Given the description of an element on the screen output the (x, y) to click on. 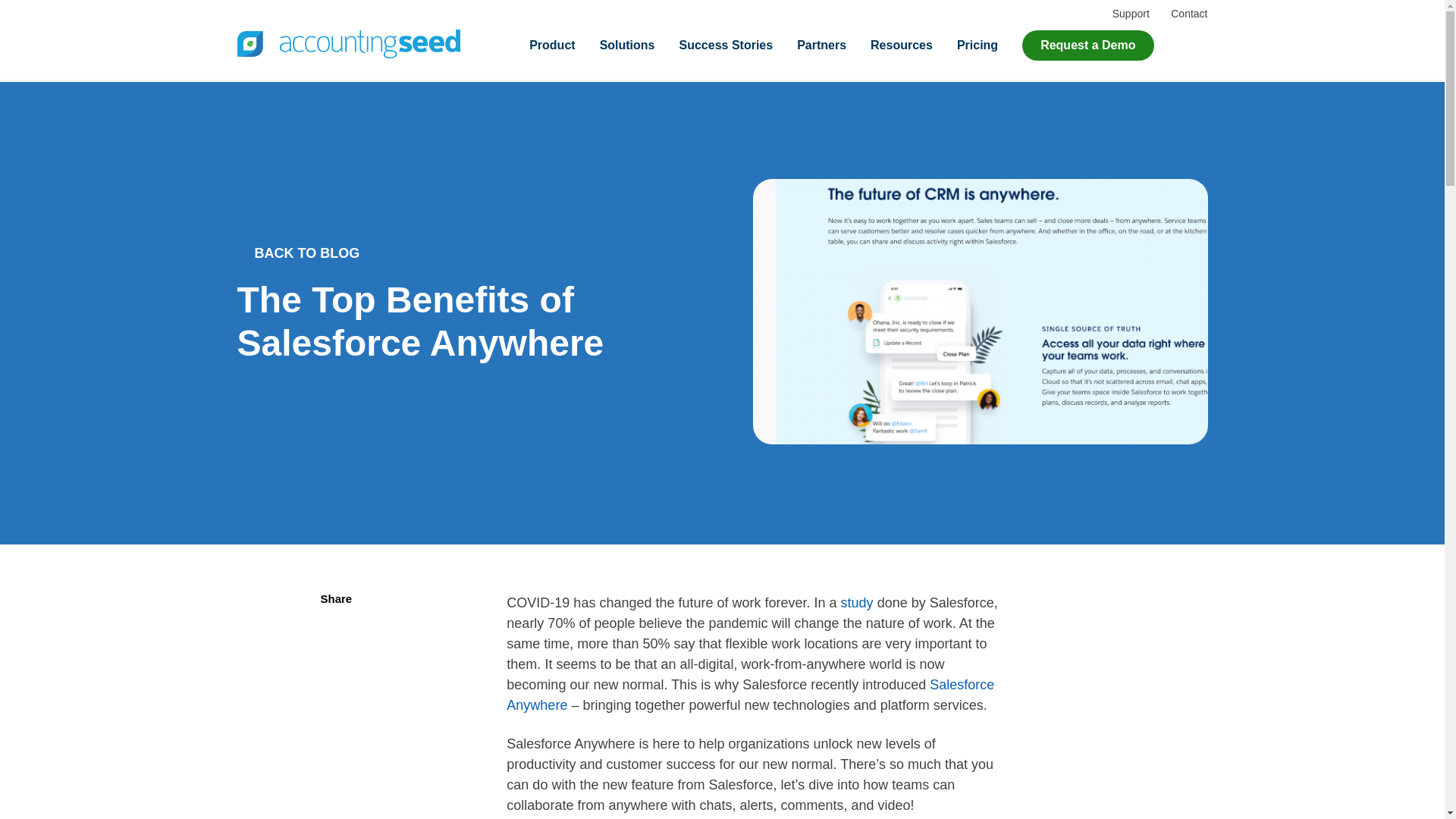
Share on LinkedIn (335, 705)
Success Stories (726, 44)
Partners (820, 44)
Share via Email (335, 744)
Share on Facebook (335, 665)
Search (1193, 44)
Resources (901, 44)
Support (1131, 13)
Product (552, 44)
Solutions (627, 44)
Share on Twitter (335, 625)
Contact (1188, 13)
